Given the description of an element on the screen output the (x, y) to click on. 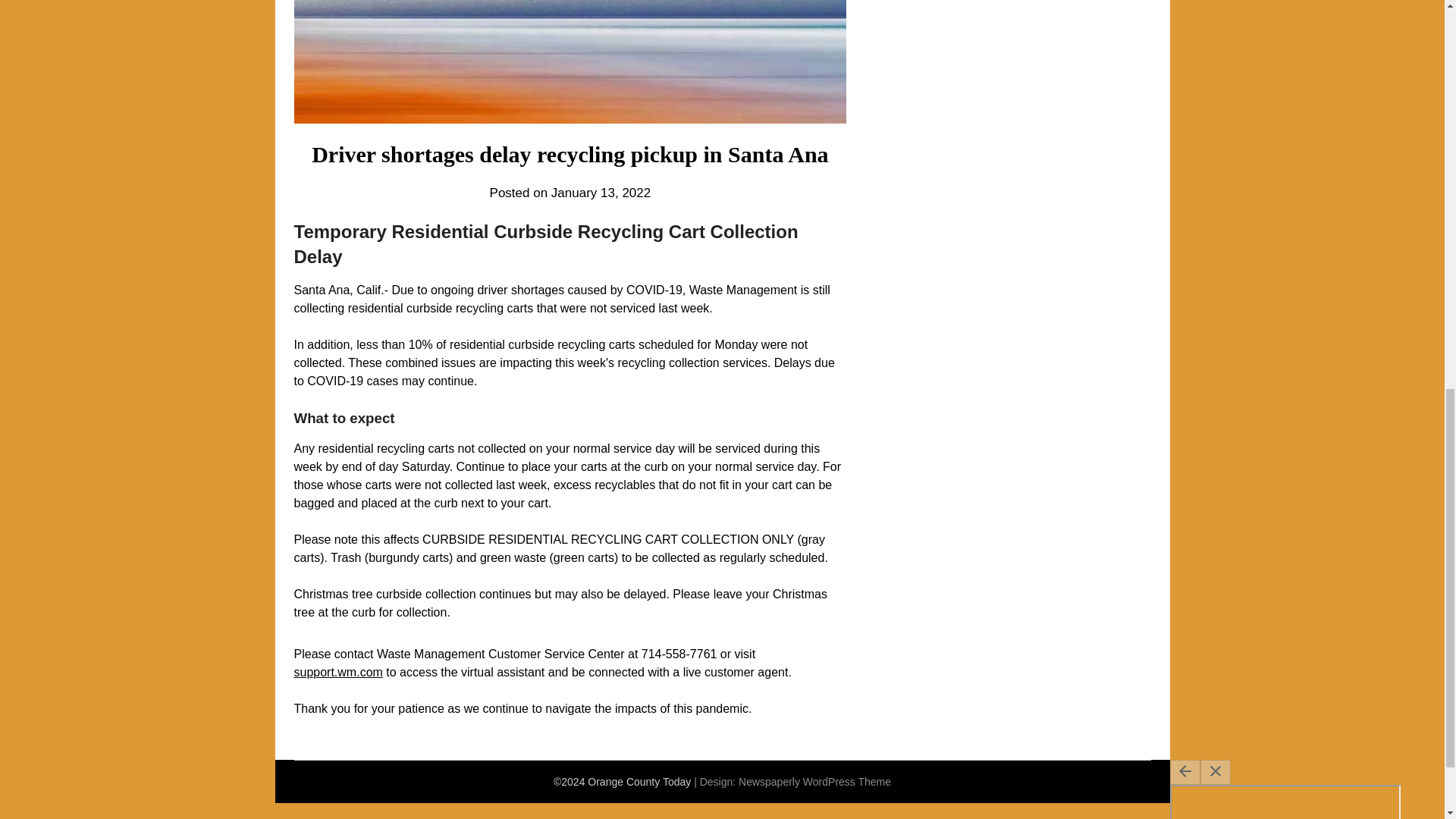
support.wm.com (338, 671)
Newspaperly WordPress Theme (814, 781)
